Given the description of an element on the screen output the (x, y) to click on. 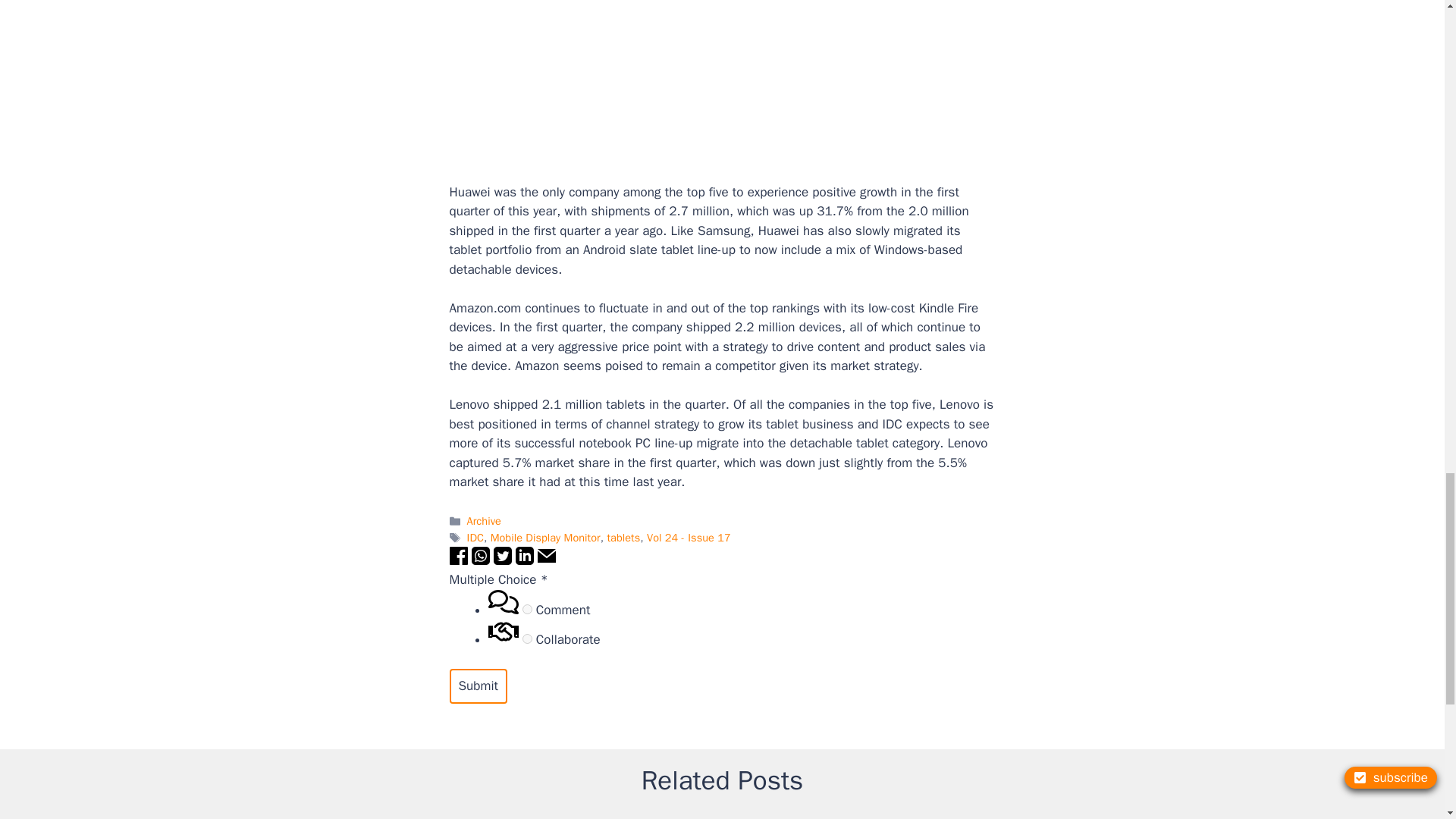
Collaborate (527, 638)
tablets (623, 537)
Archive (483, 520)
Comment (527, 609)
Vol 24 - Issue 17 (688, 537)
Submit (477, 686)
IDC (475, 537)
Mobile Display Monitor (544, 537)
